Given the description of an element on the screen output the (x, y) to click on. 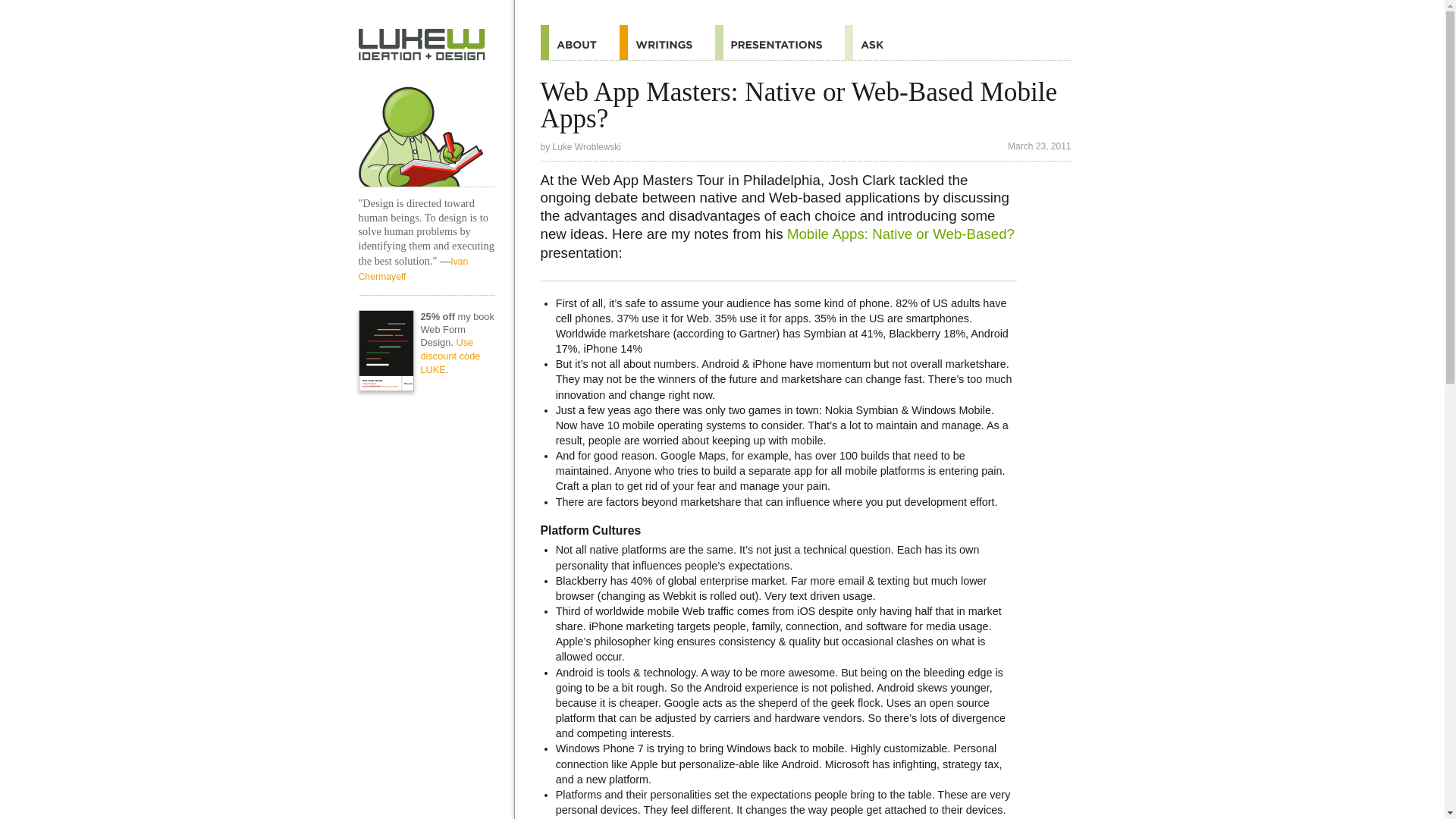
About (579, 42)
Presentations (779, 42)
Mobile Apps: Native or Web-Based? (900, 233)
Ivan Chermayeff (412, 268)
Home (426, 129)
Quotes (666, 42)
Ask (874, 42)
Use discount code LUKE (450, 355)
Home (421, 44)
Luke Wroblewski (587, 146)
